Given the description of an element on the screen output the (x, y) to click on. 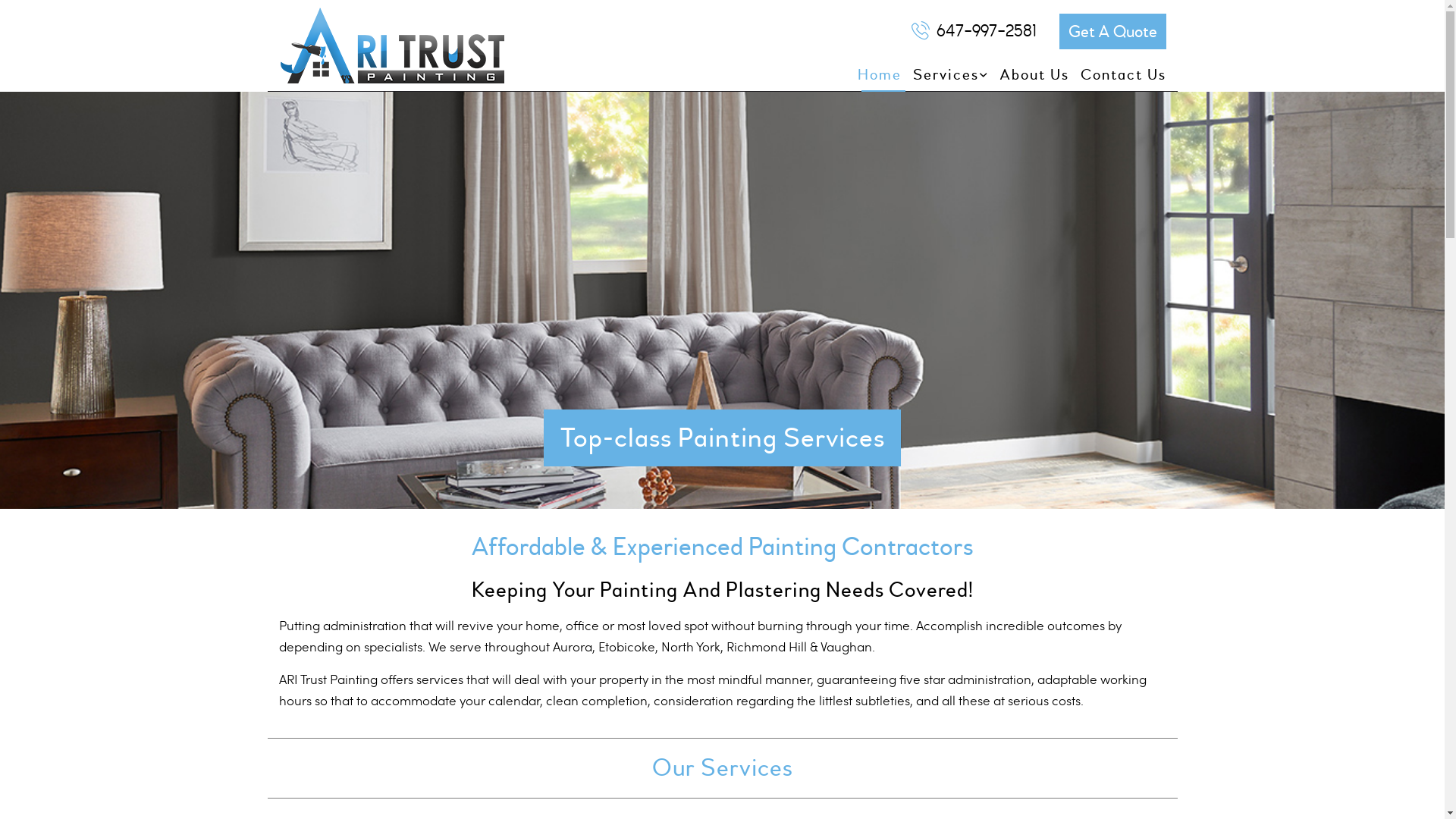
Contact Us Element type: text (1117, 74)
About Us Element type: text (1027, 74)
Get A Quote Element type: text (1111, 31)
647-997-2581 Element type: text (973, 30)
Home Element type: text (873, 74)
Services Element type: text (943, 74)
